Given the description of an element on the screen output the (x, y) to click on. 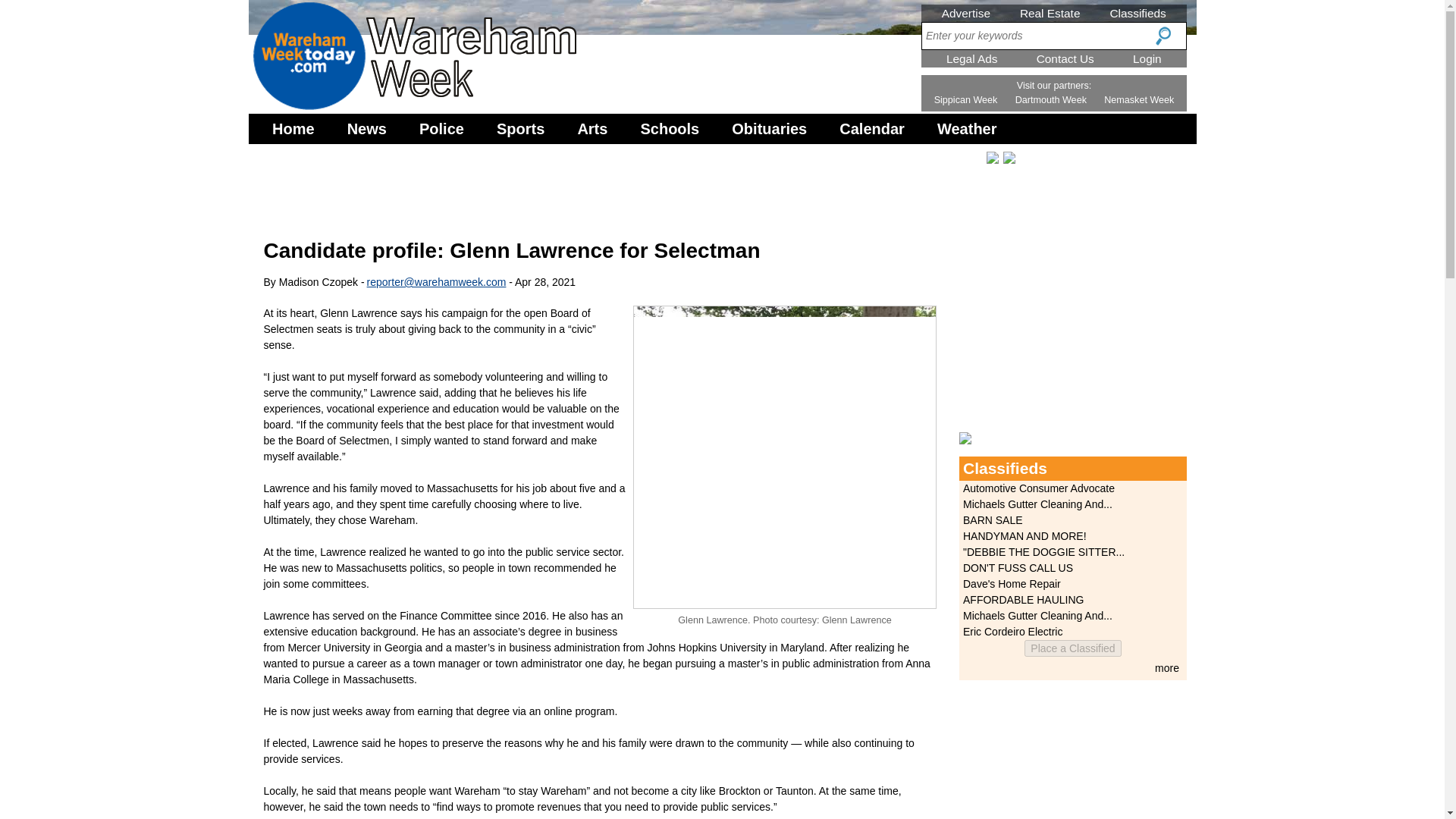
Login (1146, 58)
Legal Ads (971, 58)
Nemasket Week (1138, 100)
Obituaries (769, 128)
Weather (967, 128)
Sippican Week (965, 100)
Glenn Lawrence. Photo courtesy: Glenn Lawrence (784, 457)
Arts (592, 128)
Advertise (966, 12)
News (366, 128)
